Given the description of an element on the screen output the (x, y) to click on. 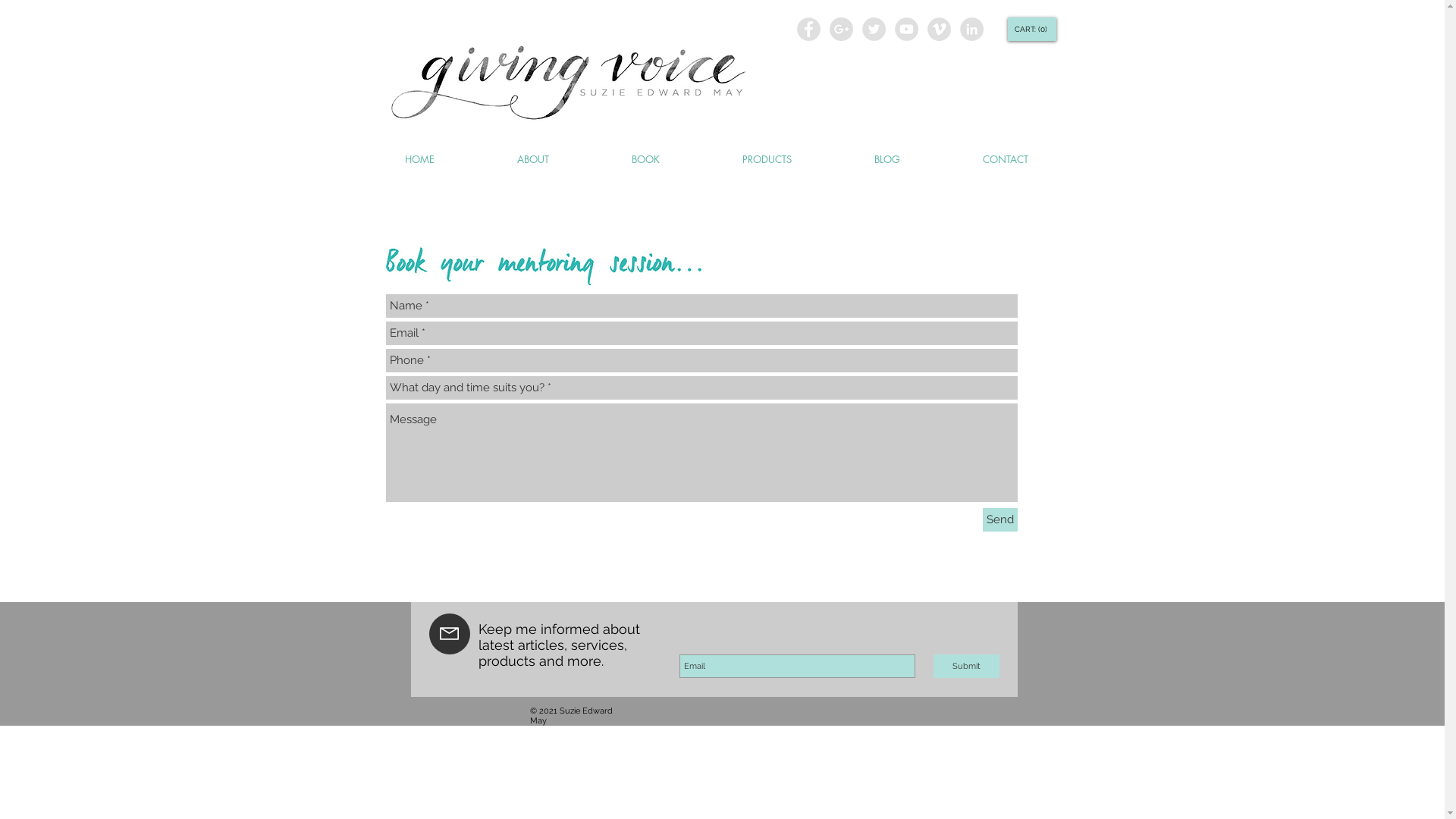
BLOG Element type: text (886, 159)
CART: (0) Element type: text (1030, 28)
Send Element type: text (999, 519)
BOOK Element type: text (644, 159)
ABOUT Element type: text (533, 159)
Submit Element type: text (965, 665)
HOME Element type: text (418, 159)
PRODUCTS Element type: text (766, 159)
CONTACT Element type: text (1005, 159)
